Given the description of an element on the screen output the (x, y) to click on. 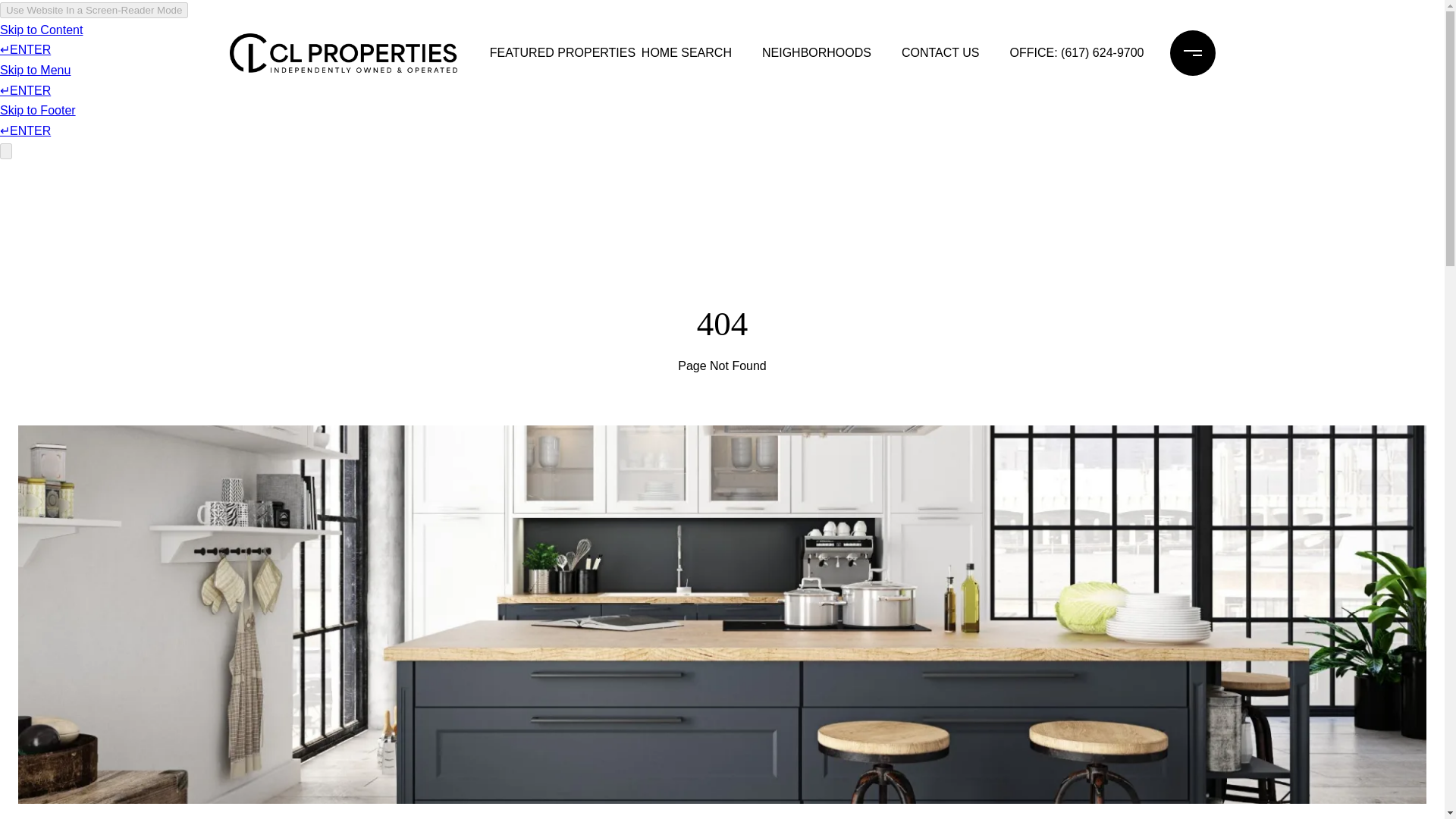
HOME SEARCH (686, 52)
FEATURED PROPERTIES (549, 52)
NEIGHBORHOODS (816, 52)
CONTACT US (940, 52)
